Given the description of an element on the screen output the (x, y) to click on. 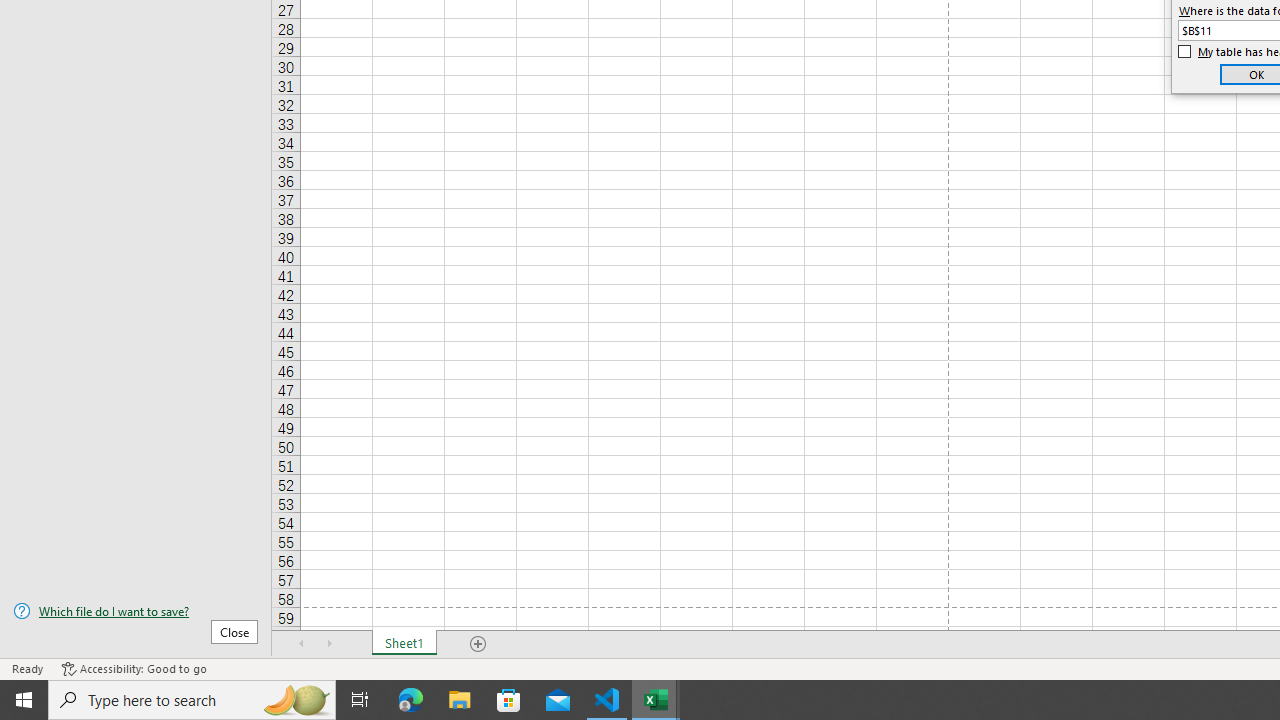
Which file do I want to save? (136, 611)
Accessibility Checker Accessibility: Good to go (134, 668)
